Given the description of an element on the screen output the (x, y) to click on. 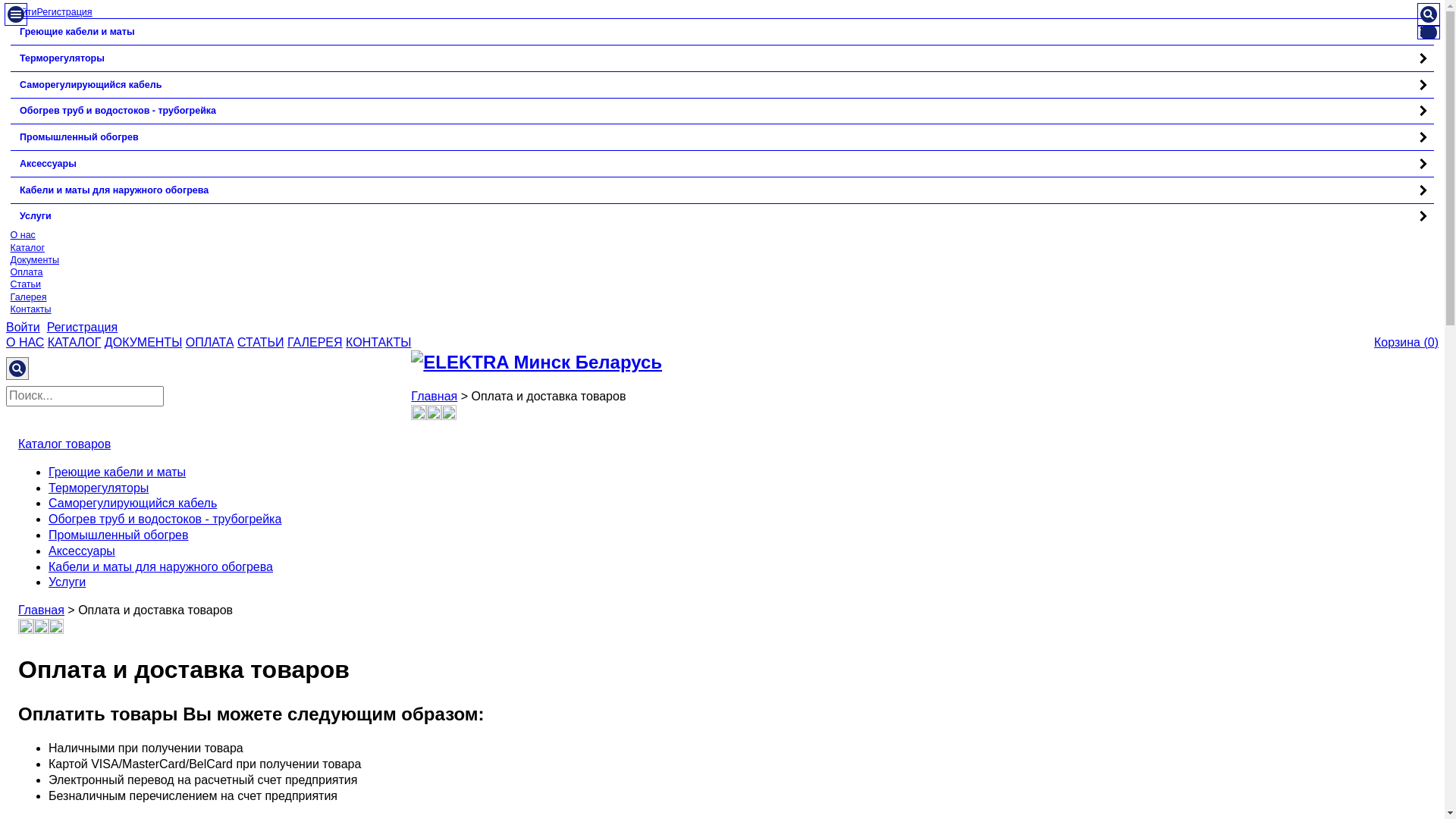
Instagram Element type: hover (25, 629)
Facebook Element type: hover (40, 629)
Instagram Element type: hover (418, 415)
Facebook Element type: hover (433, 415)
